Given the description of an element on the screen output the (x, y) to click on. 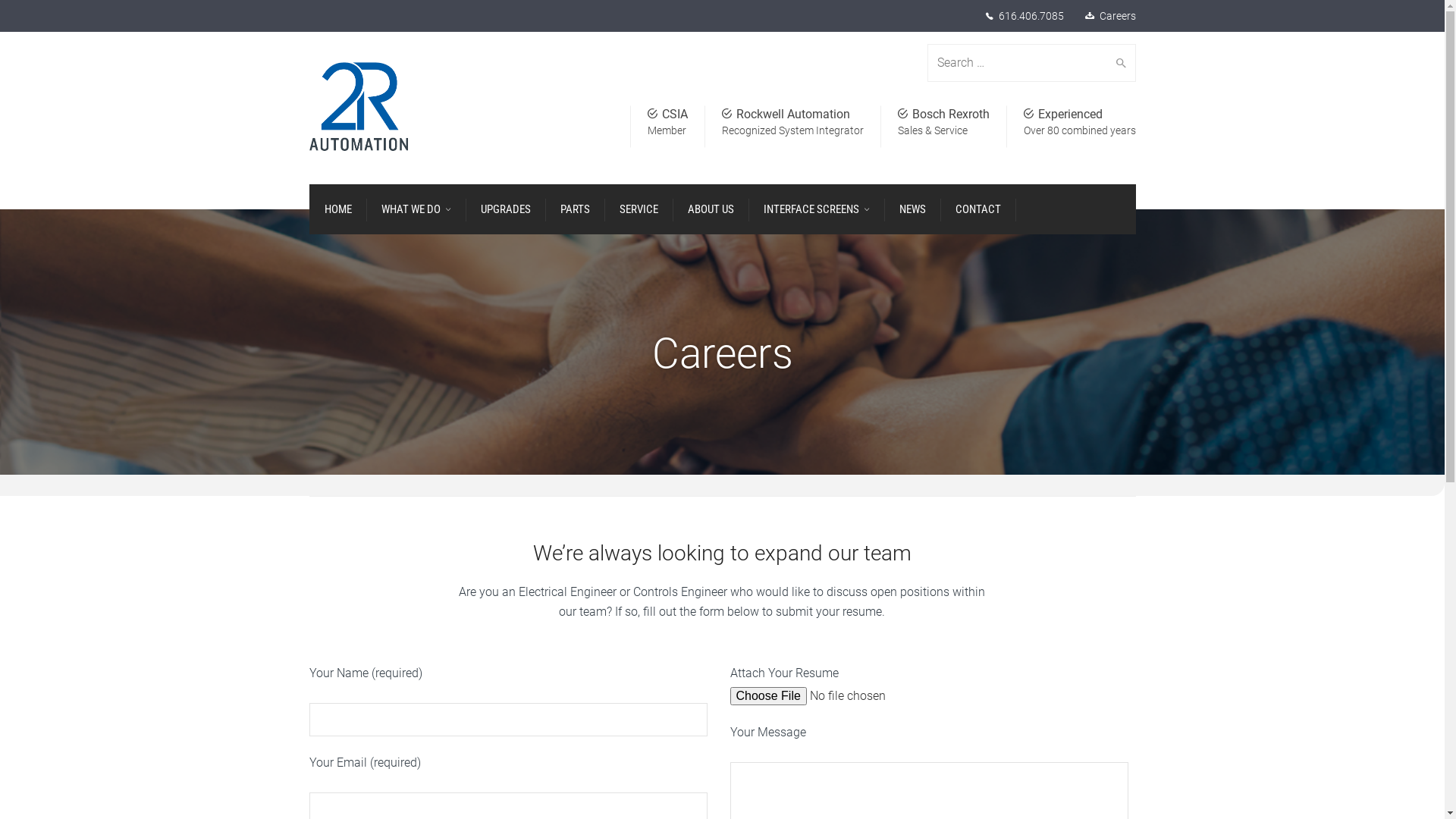
Careers Element type: text (1117, 15)
UPGRADES Element type: text (505, 209)
Privacy Policy Element type: text (563, 798)
HOME Element type: text (338, 209)
Terms and Conditions Element type: text (472, 798)
CONTACT Element type: text (978, 209)
NEWS Element type: text (912, 209)
WHAT WE DO Element type: text (415, 209)
SERVICE Element type: text (637, 209)
Search Element type: text (1117, 62)
Website by studio3twenty Element type: text (795, 798)
PARTS Element type: text (574, 209)
ABOUT US Element type: text (709, 209)
INTERFACE SCREENS Element type: text (815, 209)
